Given the description of an element on the screen output the (x, y) to click on. 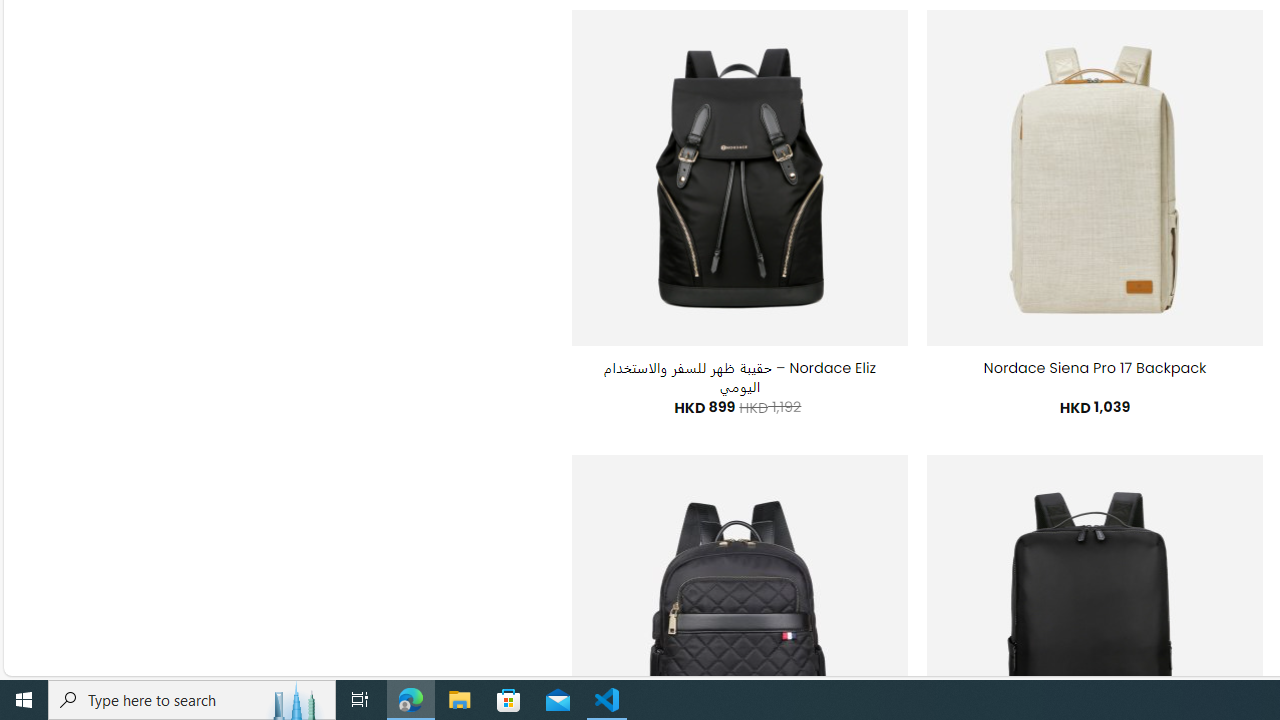
Nordace Siena Pro 17 Backpack (1095, 368)
